Given the description of an element on the screen output the (x, y) to click on. 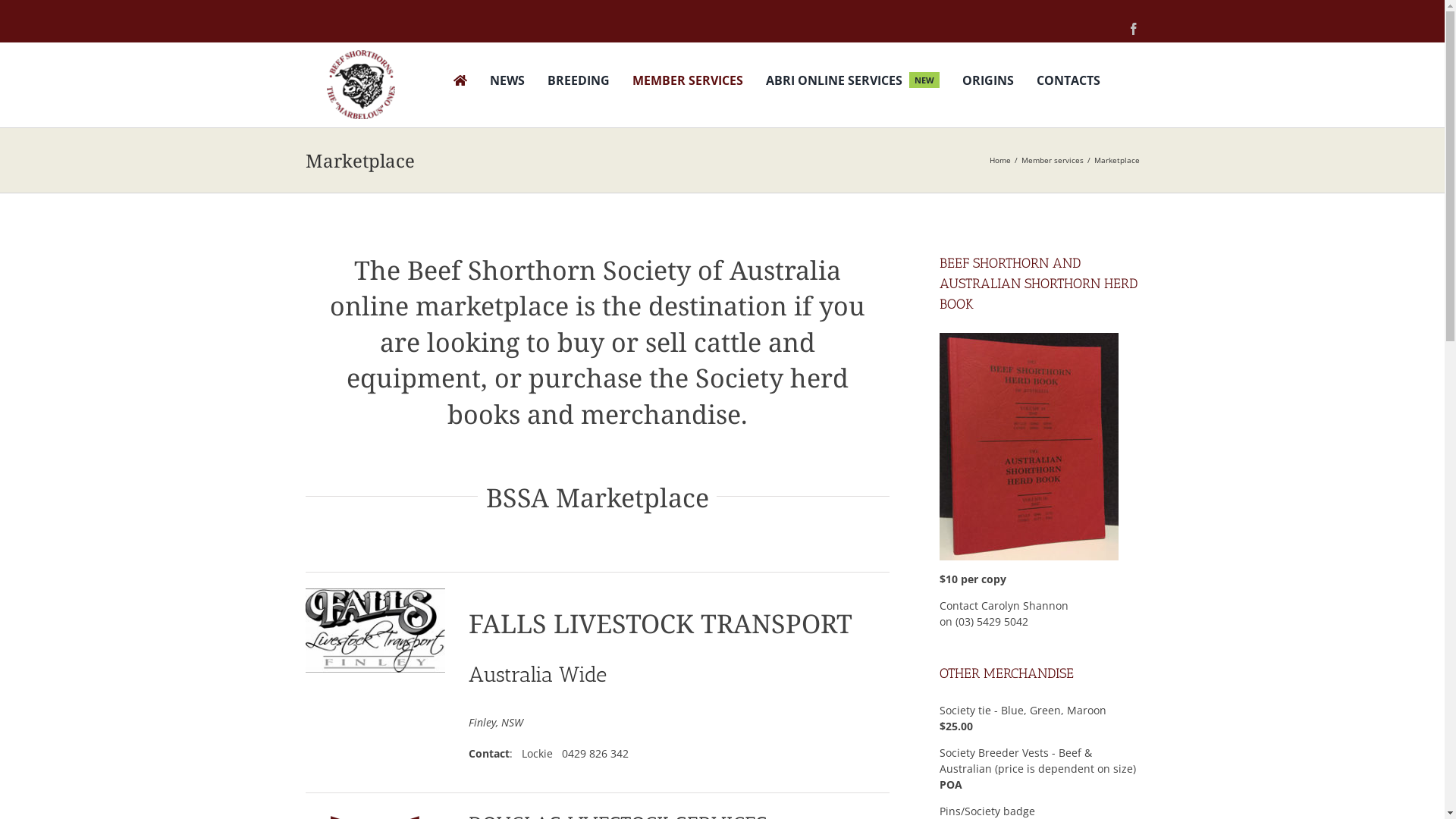
Member services Element type: text (1051, 159)
ABRI ONLINE SERVICES
NEW Element type: text (852, 82)
BREEDING Element type: text (578, 82)
CONTACTS Element type: text (1068, 82)
ORIGINS Element type: text (987, 82)
MEMBER SERVICES Element type: text (687, 82)
NEWS Element type: text (507, 82)
FLT new logo Element type: hover (374, 630)
Home Element type: text (999, 159)
